Given the description of an element on the screen output the (x, y) to click on. 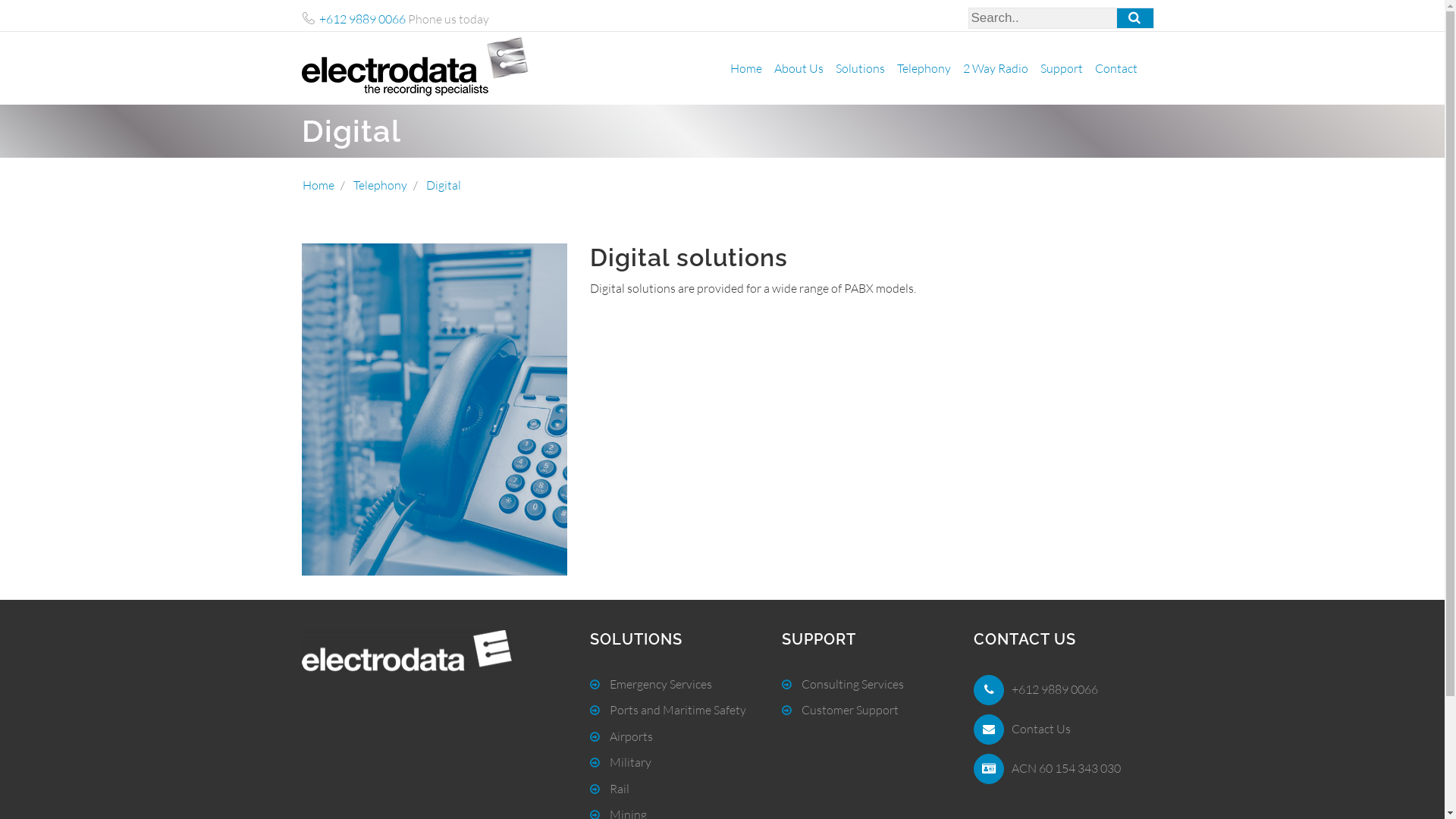
Rail Element type: text (609, 788)
Telephony Element type: text (923, 68)
+612 9889 0066 Element type: text (1054, 688)
Customer Support Element type: text (839, 709)
Digital Element type: text (443, 184)
About Us Element type: text (797, 68)
Contact Element type: text (1115, 68)
Consulting Services Element type: text (842, 683)
Solutions Element type: text (860, 68)
Military Element type: text (620, 761)
Contact Us Element type: text (1040, 728)
Home Element type: text (745, 68)
Emergency Services Element type: text (650, 683)
Home Element type: text (317, 184)
Support Element type: text (1061, 68)
Ports and Maritime Safety Element type: text (667, 709)
Telephony Element type: text (380, 184)
Airports Element type: text (620, 735)
2 Way Radio Element type: text (995, 68)
+612 9889 0066 Element type: text (361, 18)
